Given the description of an element on the screen output the (x, y) to click on. 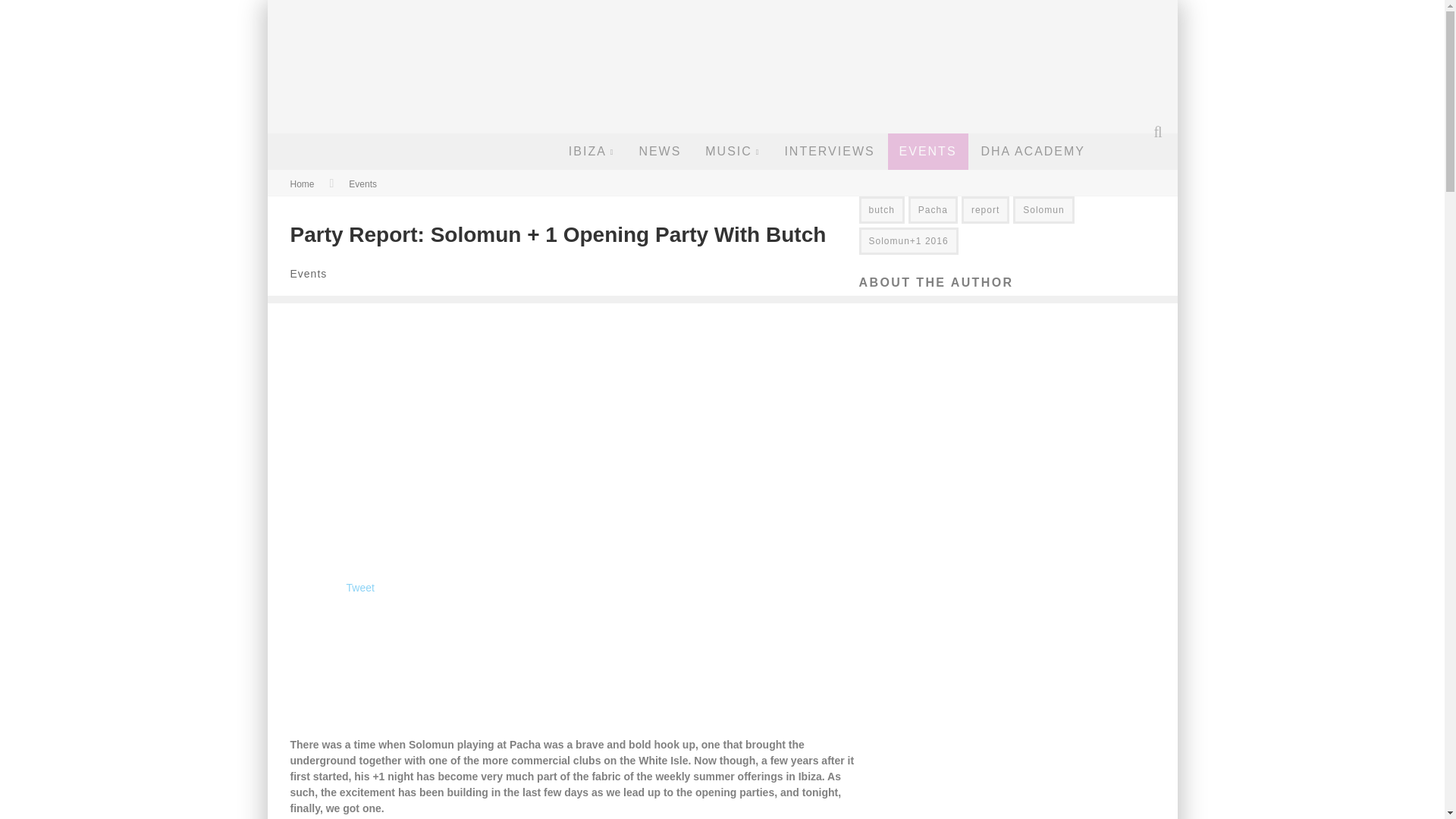
NEWS (660, 151)
View all posts in Events (307, 273)
IBIZA (591, 151)
MUSIC (732, 151)
View all posts in Events (363, 184)
